Given the description of an element on the screen output the (x, y) to click on. 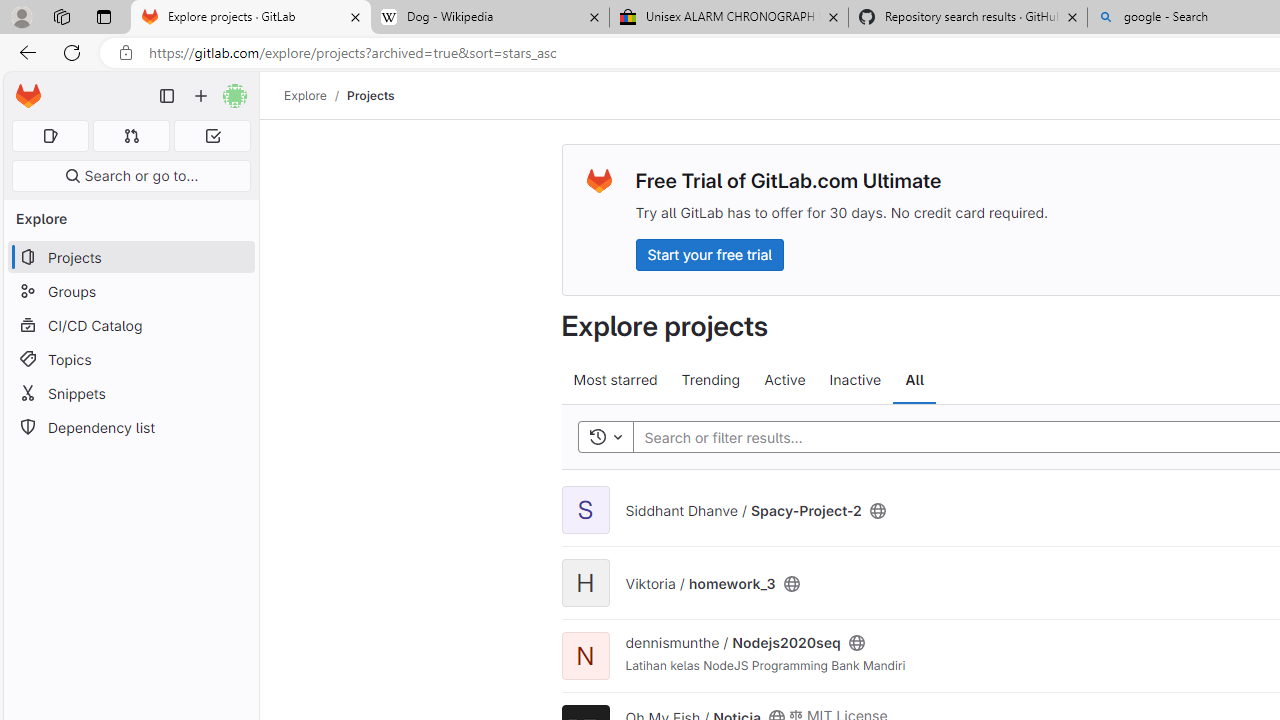
Homepage (27, 96)
Toggle history (605, 437)
